Given the description of an element on the screen output the (x, y) to click on. 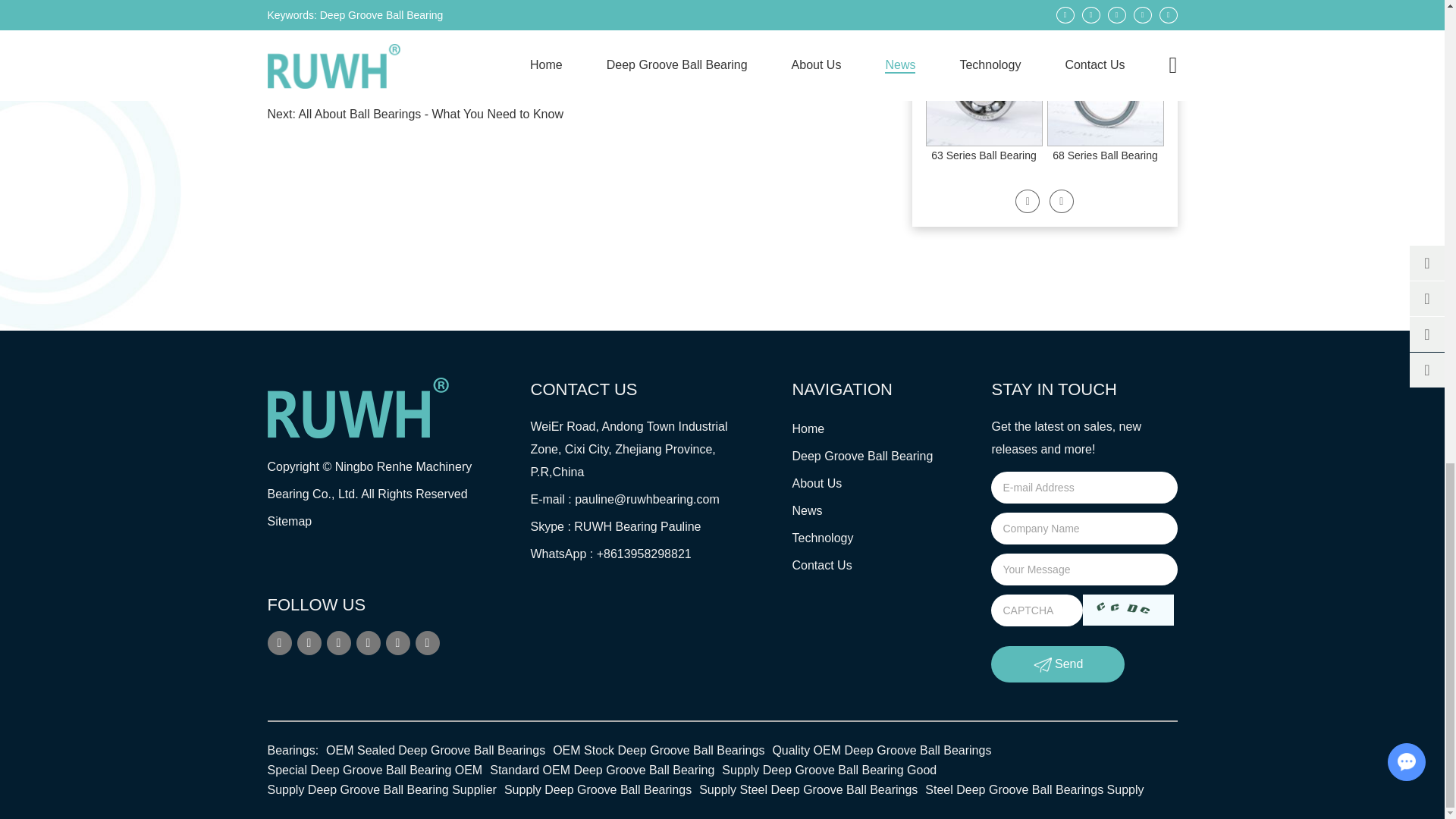
2023 Hannover Messe (382, 86)
All About Ball Bearings - What You Need to Know (430, 113)
60 Series Ball Bearing (983, 4)
